Given the description of an element on the screen output the (x, y) to click on. 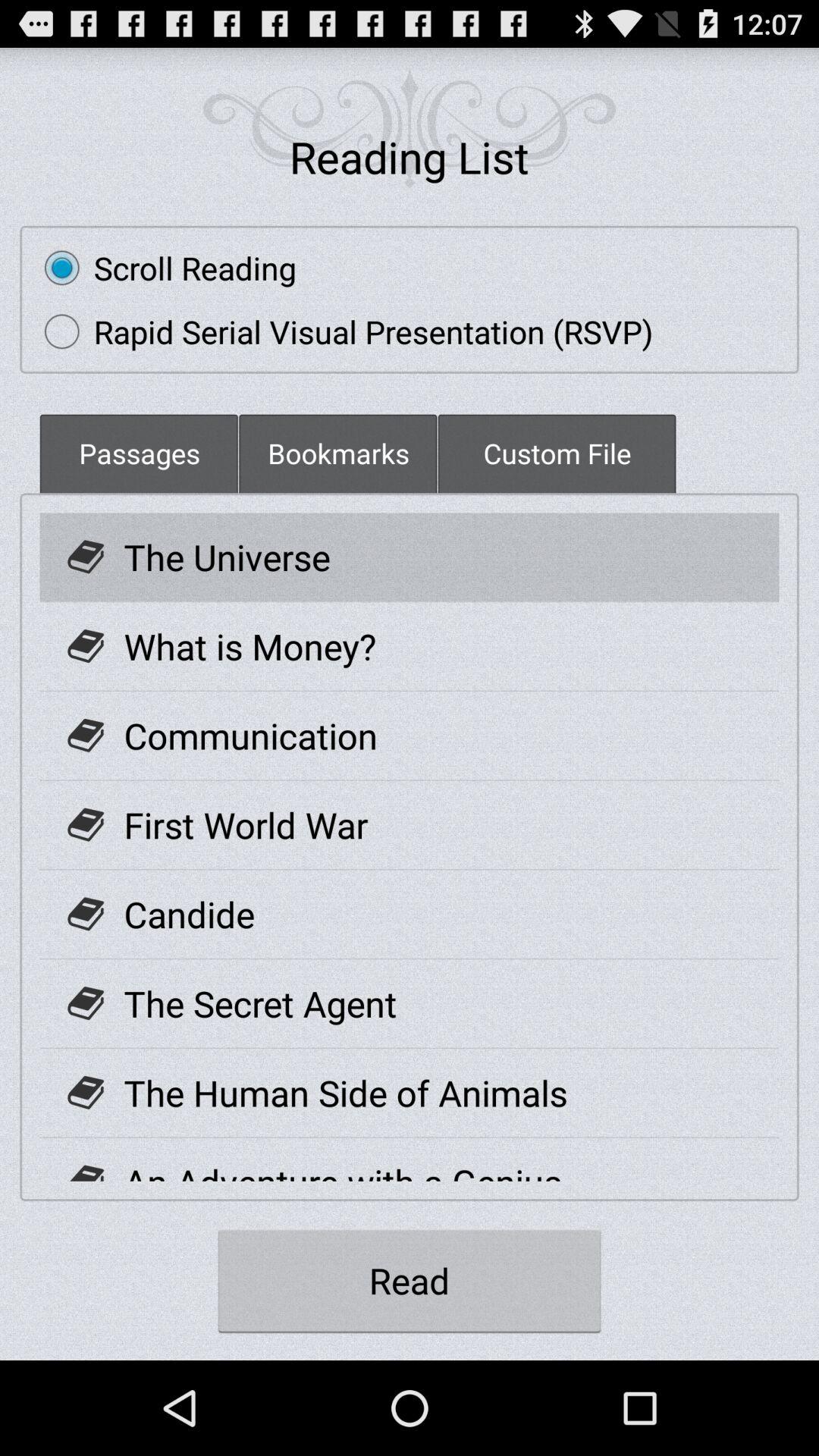
flip to what is money? app (250, 646)
